Given the description of an element on the screen output the (x, y) to click on. 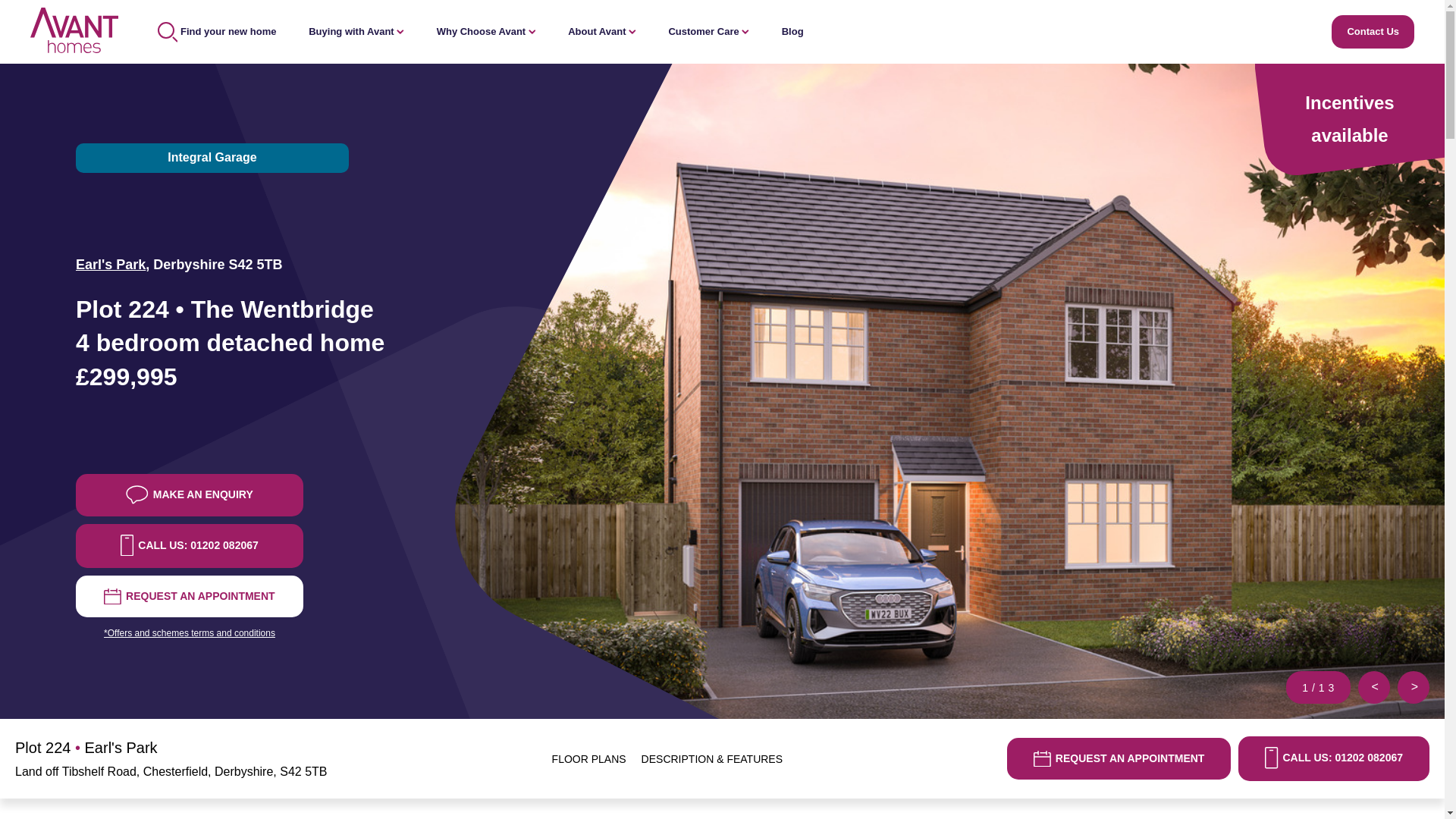
Why Choose Avant (485, 30)
About Avant (601, 30)
Contact Us (1372, 31)
Customer Care (708, 30)
Buying with Avant (356, 30)
Blog (792, 30)
Find your new home (216, 30)
